Given the description of an element on the screen output the (x, y) to click on. 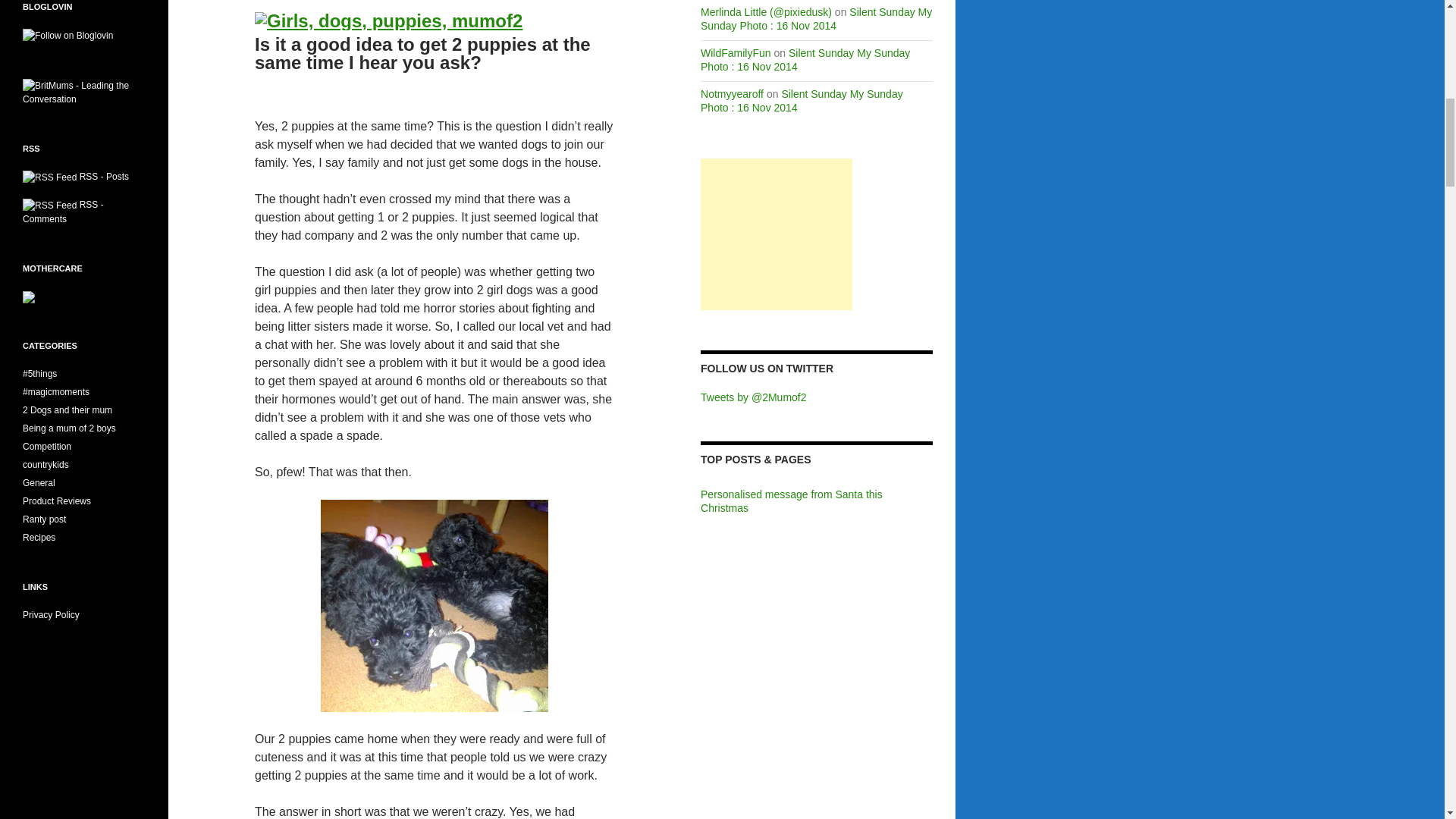
Follow Mumof2.com on Bloglovin (68, 34)
BritMums - Leading the Conversation (84, 91)
Subscribe to Posts (104, 176)
Subscribe to Posts (50, 176)
